Given the description of an element on the screen output the (x, y) to click on. 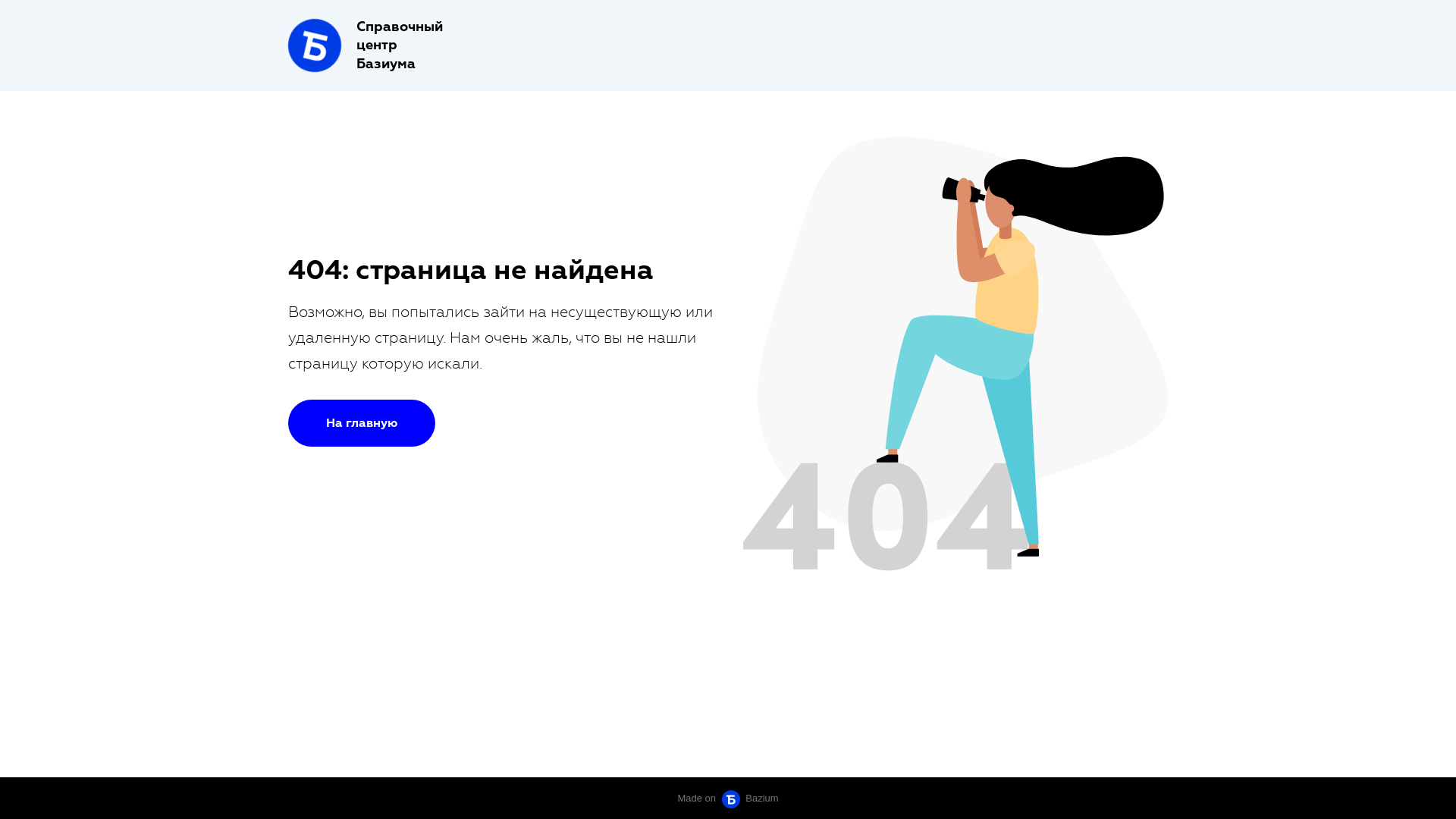
Made on Bazium Bazium Element type: text (727, 797)
